Given the description of an element on the screen output the (x, y) to click on. 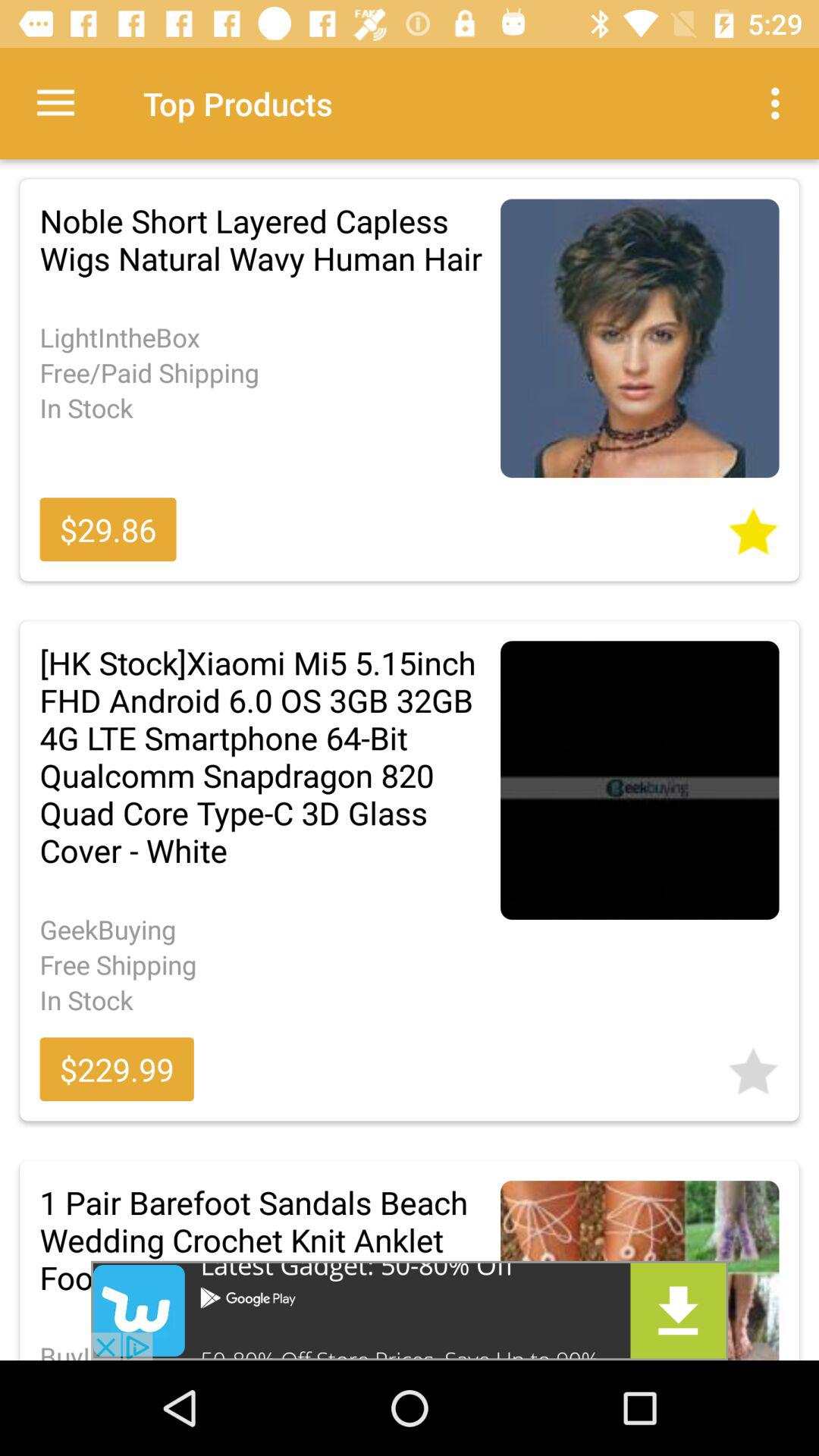
like product (753, 1066)
